Given the description of an element on the screen output the (x, y) to click on. 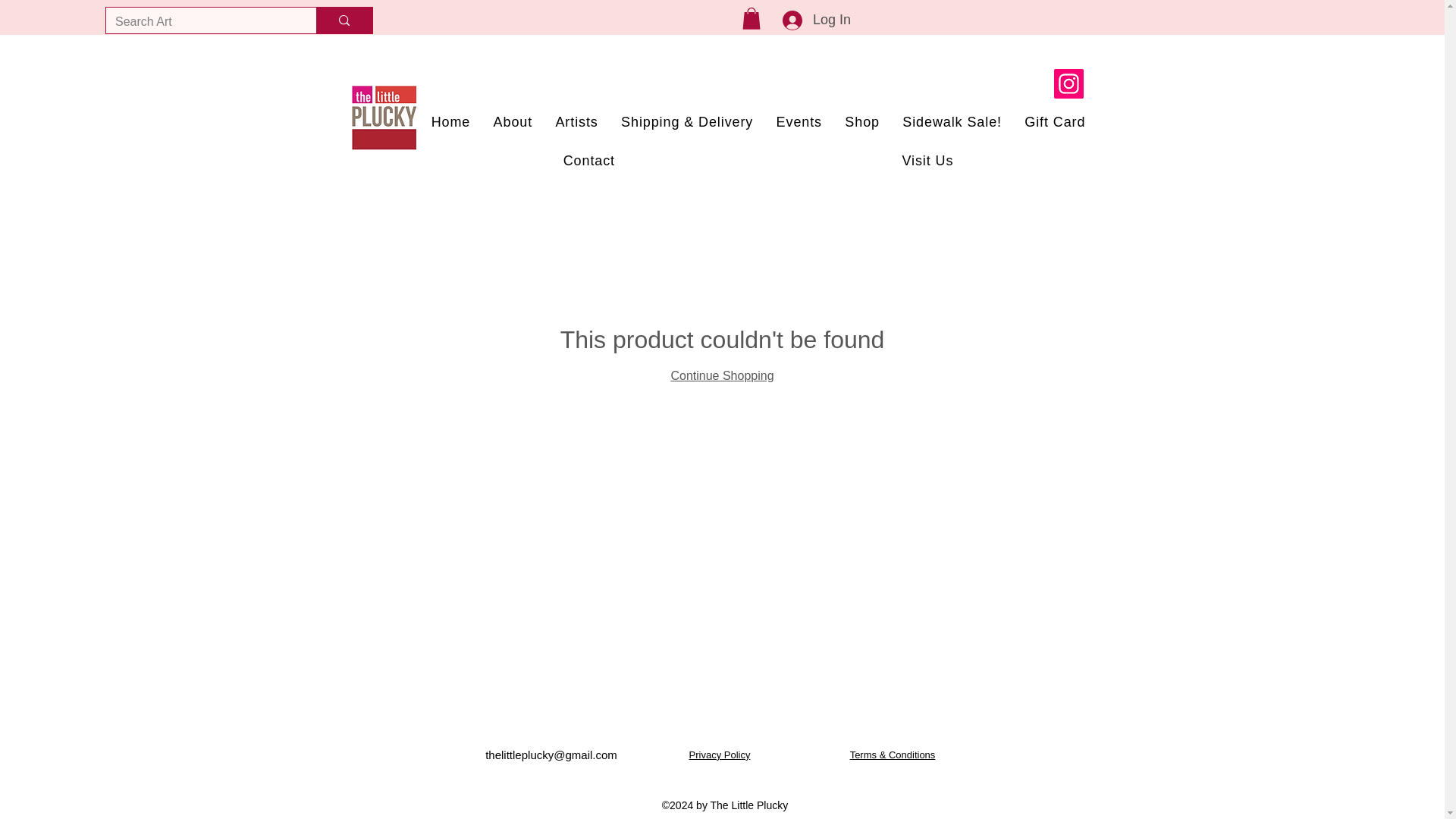
About (512, 122)
Artists (577, 122)
Log In (802, 20)
Home (451, 122)
